Given the description of an element on the screen output the (x, y) to click on. 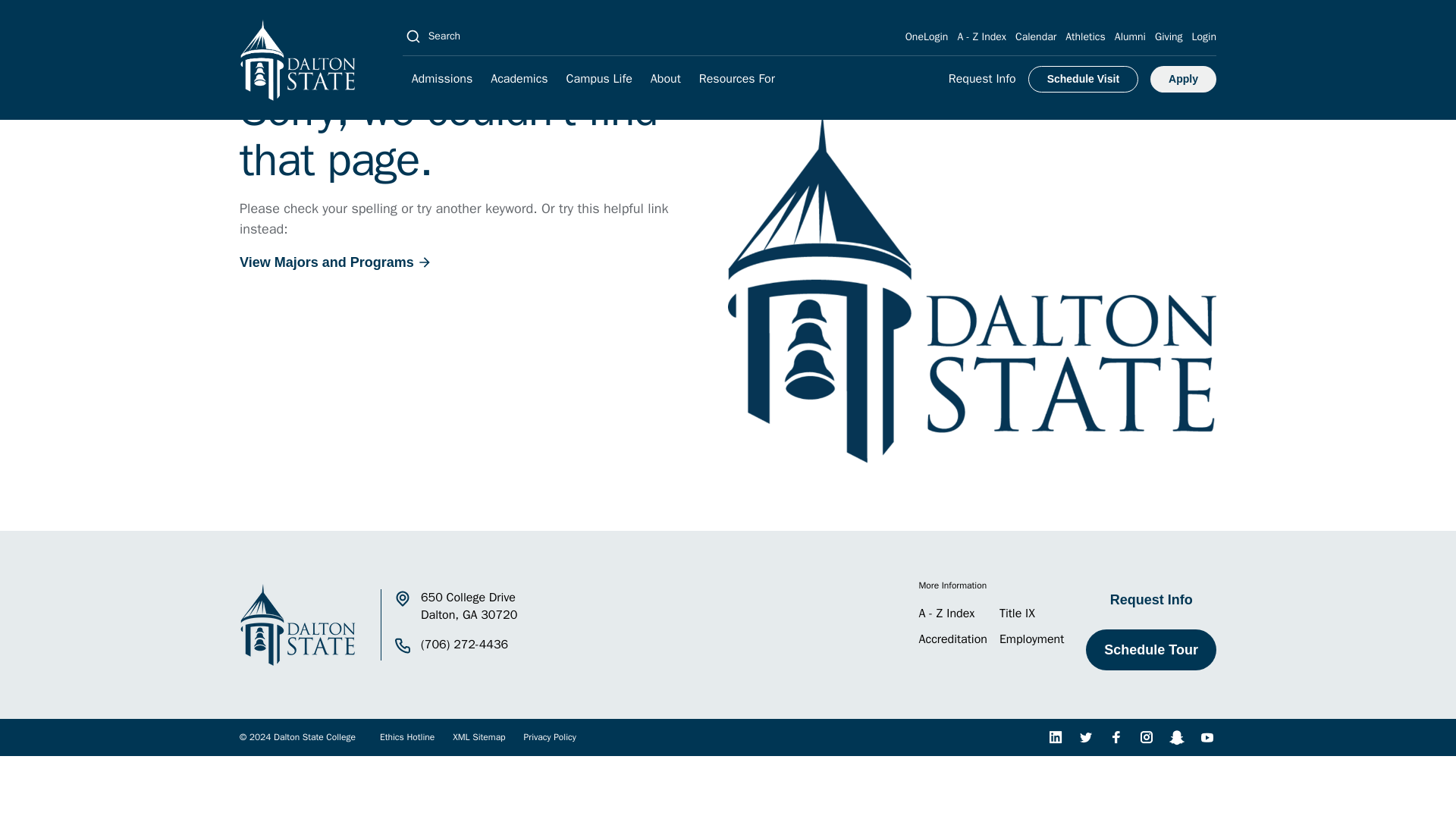
Login (1203, 36)
Giving (1168, 36)
A - Z Index (981, 36)
Admissions (442, 78)
Calendar (1035, 36)
Athletics (1085, 36)
OneLogin (927, 36)
Alumni (1130, 36)
